Given the description of an element on the screen output the (x, y) to click on. 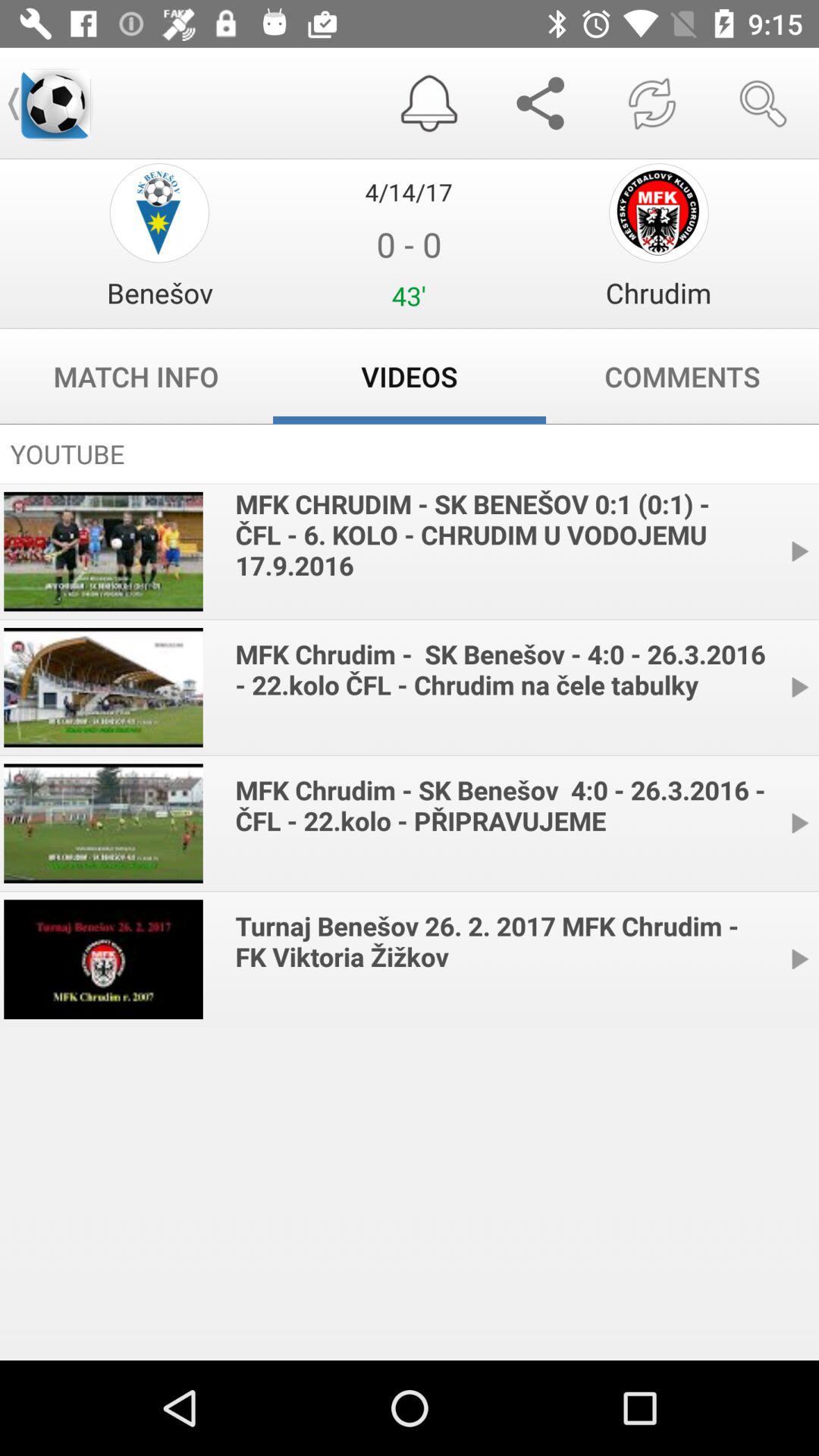
tap the icon above the 0 - 0 item (408, 191)
